Given the description of an element on the screen output the (x, y) to click on. 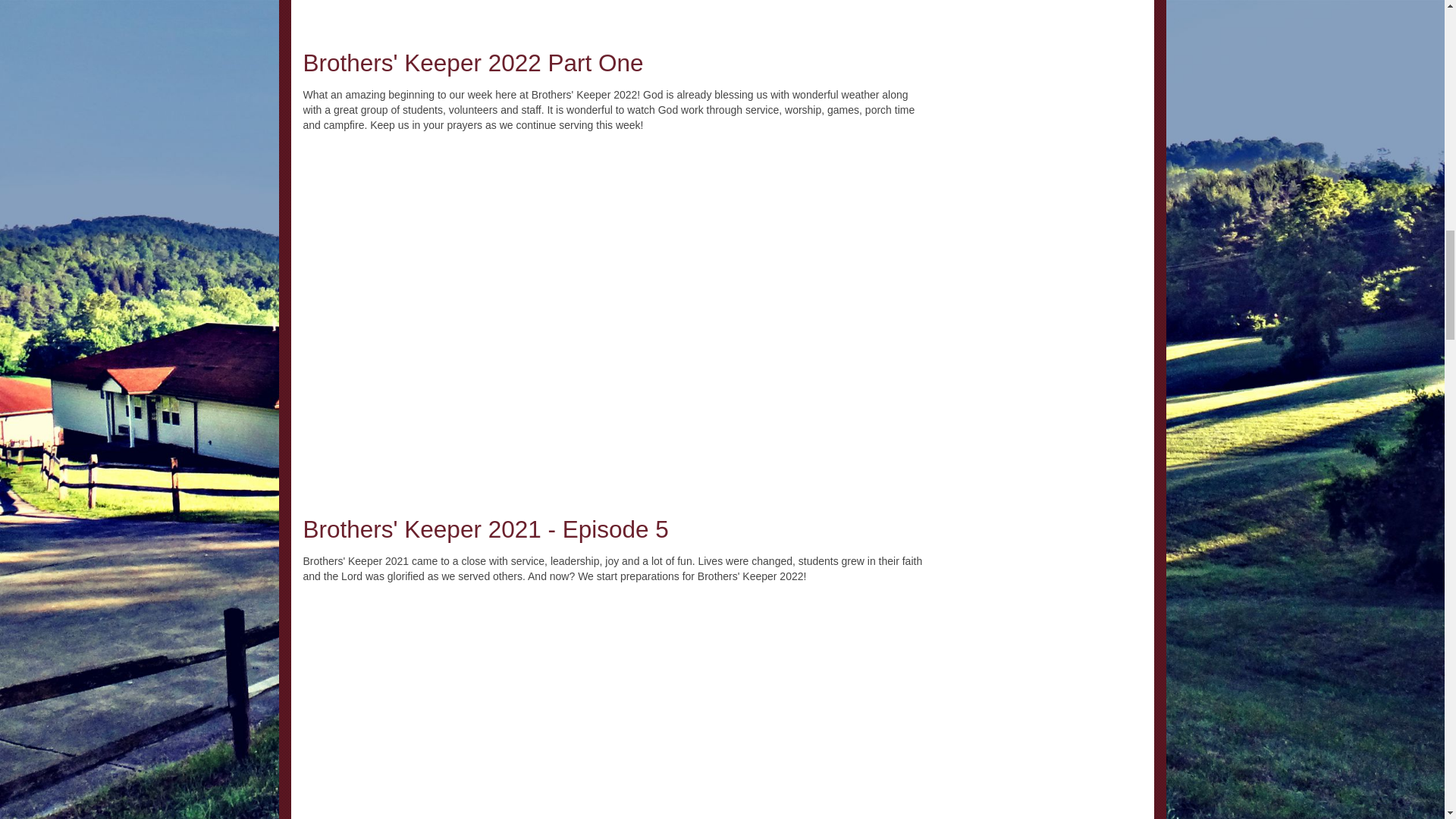
Brothers' Keeper 2022 Part One (472, 62)
Brothers' Keeper 2021 - Episode 5 (485, 528)
